Given the description of an element on the screen output the (x, y) to click on. 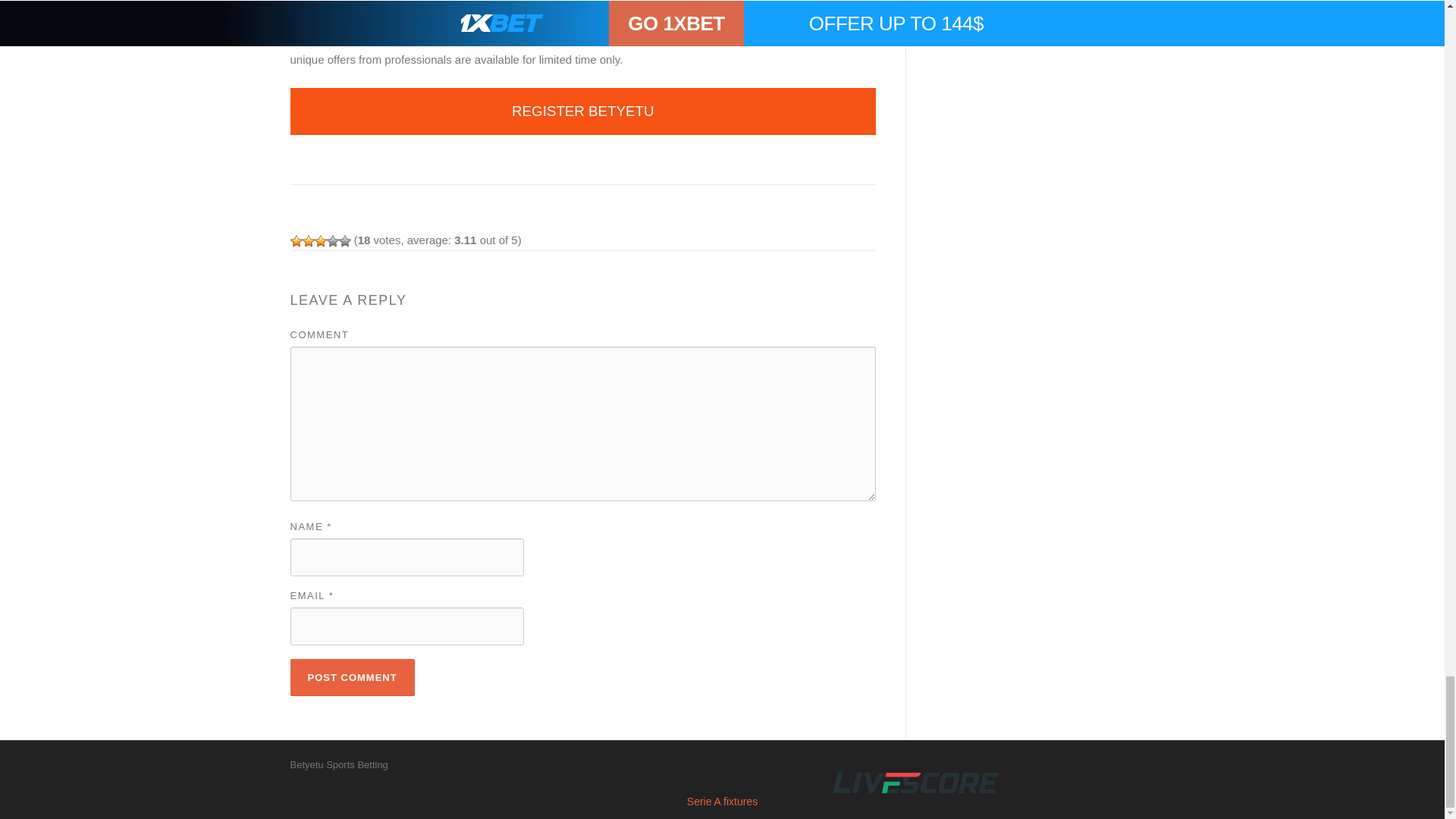
Post Comment (351, 677)
REGISTER BETYETU (582, 111)
Post Comment (351, 677)
3 (320, 241)
2 (307, 241)
5 (343, 241)
1 (295, 241)
4 (331, 241)
